Given the description of an element on the screen output the (x, y) to click on. 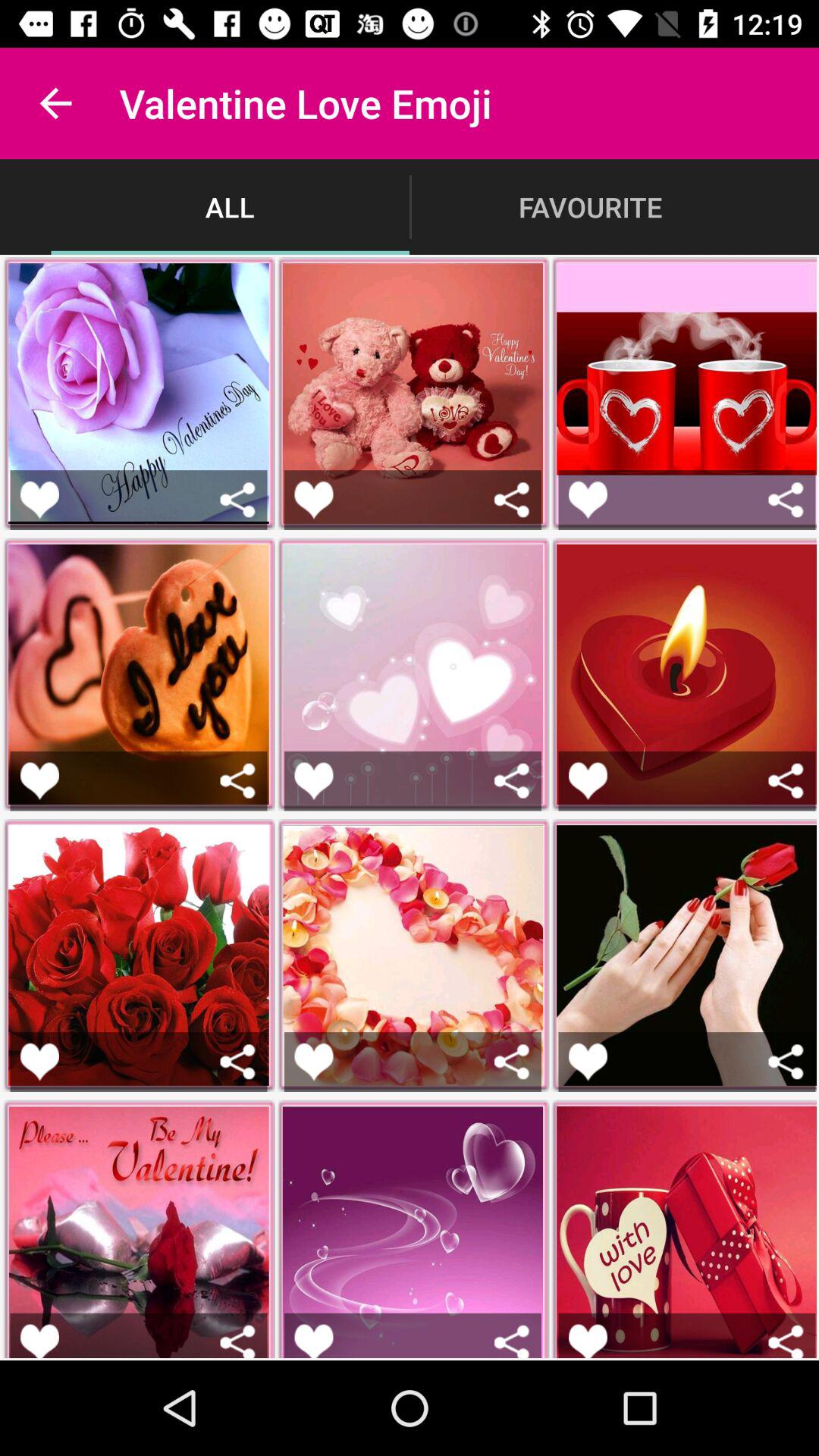
sharing option (785, 1340)
